Given the description of an element on the screen output the (x, y) to click on. 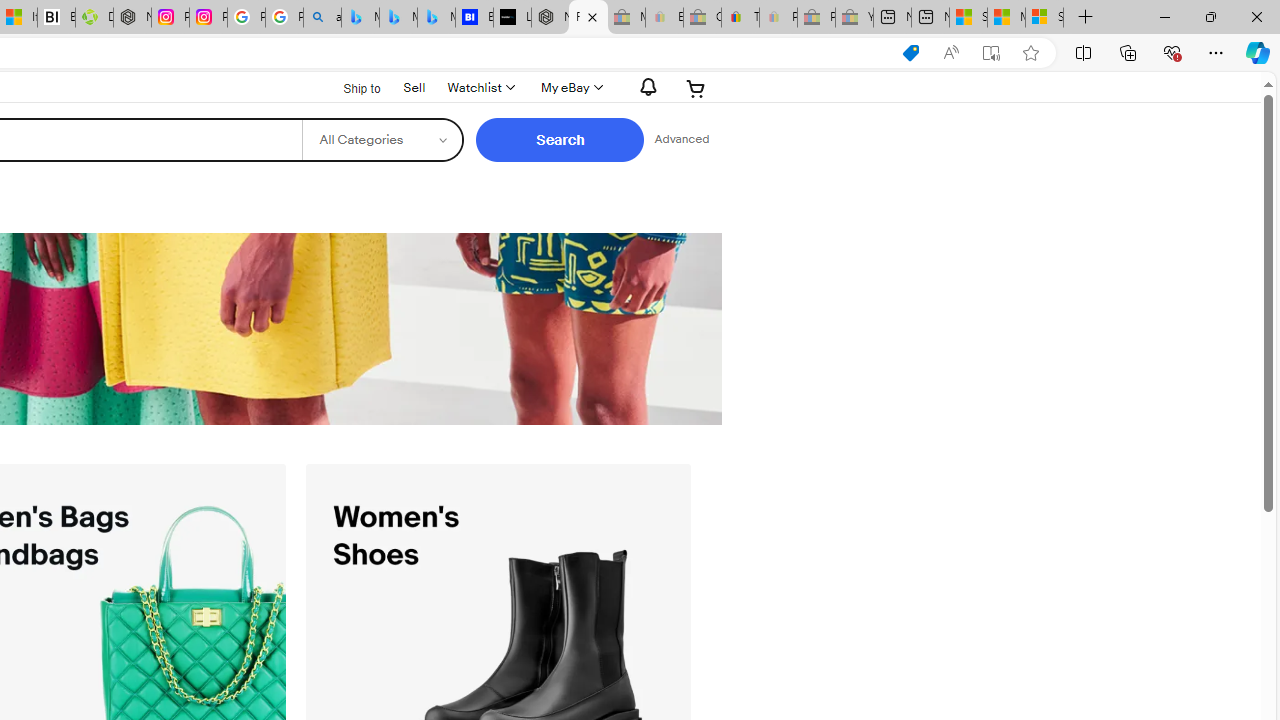
WatchlistExpand Watch List (479, 88)
Ship to (349, 89)
Fashion products for sale | eBay (587, 17)
Select a category for search (382, 139)
Yard, Garden & Outdoor Living - Sleeping (853, 17)
This site has coupons! Shopping in Microsoft Edge (910, 53)
Microsoft Bing Travel - Flights from Hong Kong to Bangkok (359, 17)
Advanced Search (681, 139)
